Given the description of an element on the screen output the (x, y) to click on. 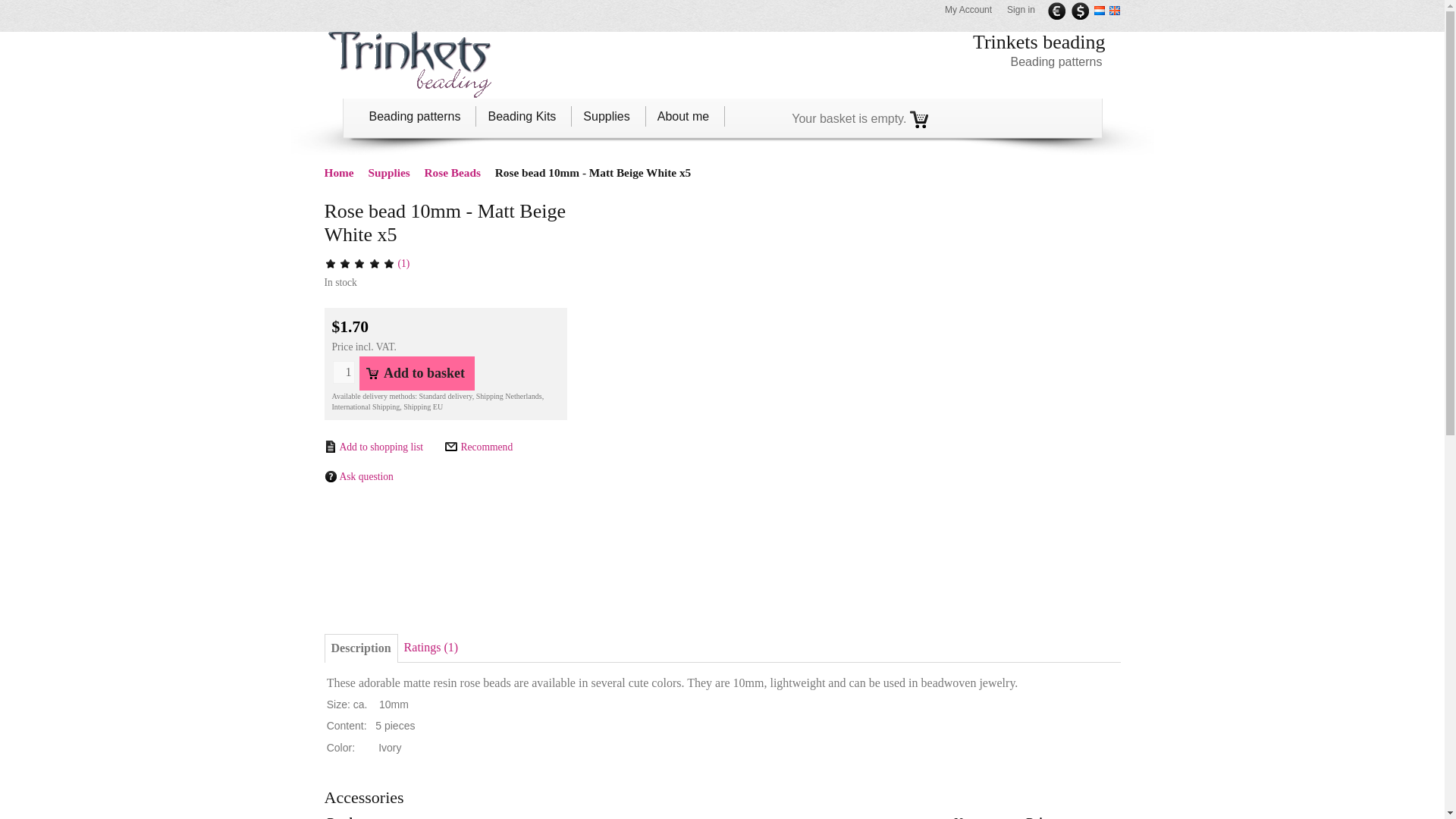
Trinkets beading (409, 64)
My Account (971, 10)
Trinkets beading (1038, 42)
1 (342, 372)
Average rating: 5 of 5 (330, 263)
Beading patterns (417, 115)
Add to shopping list (373, 446)
Beading Kits (525, 115)
Trinkets beading (1038, 42)
Average rating: 5 of 5 (374, 263)
